Given the description of an element on the screen output the (x, y) to click on. 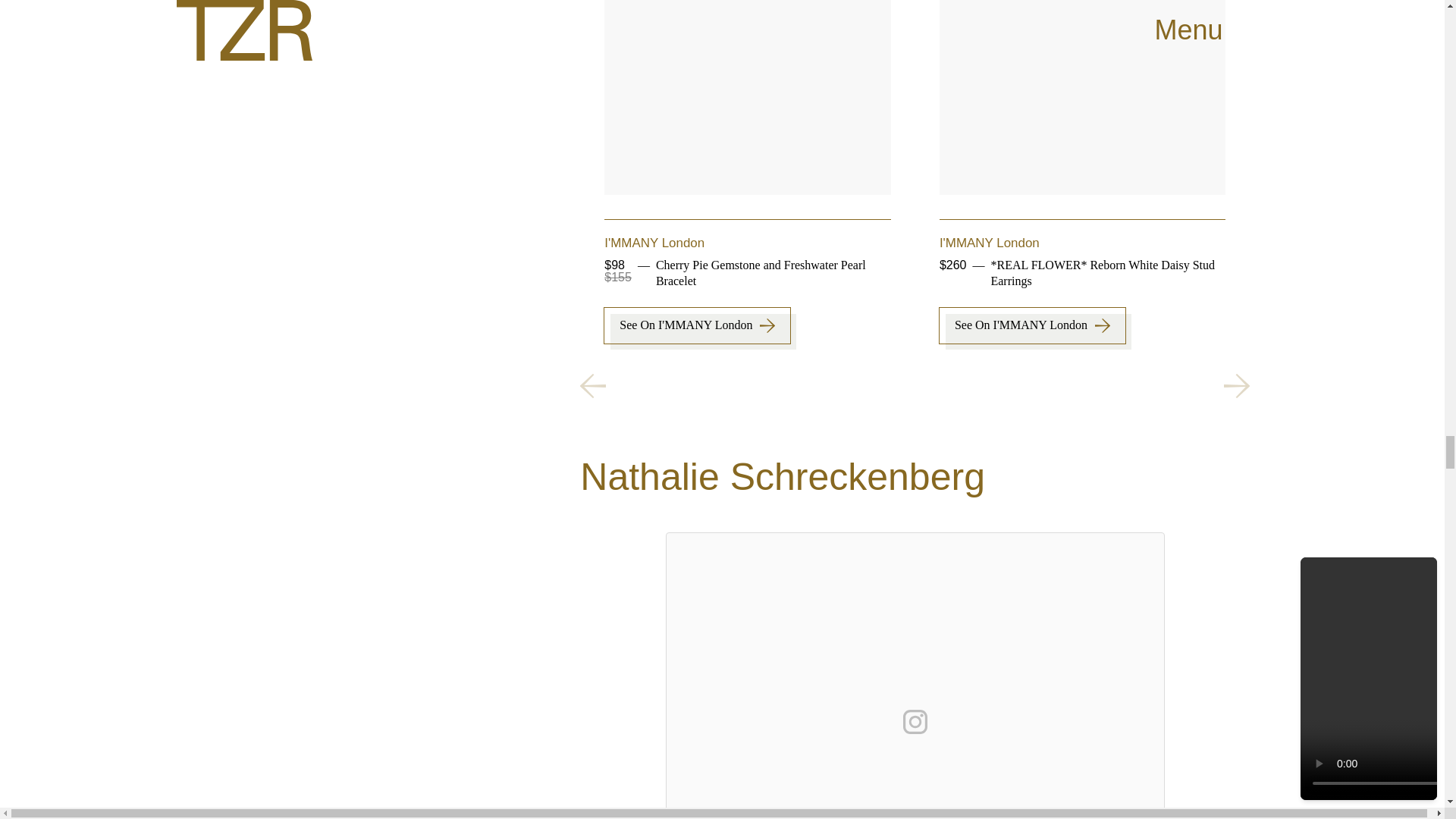
View on Instagram (914, 721)
Previous page (592, 385)
Next page (1236, 385)
